Given the description of an element on the screen output the (x, y) to click on. 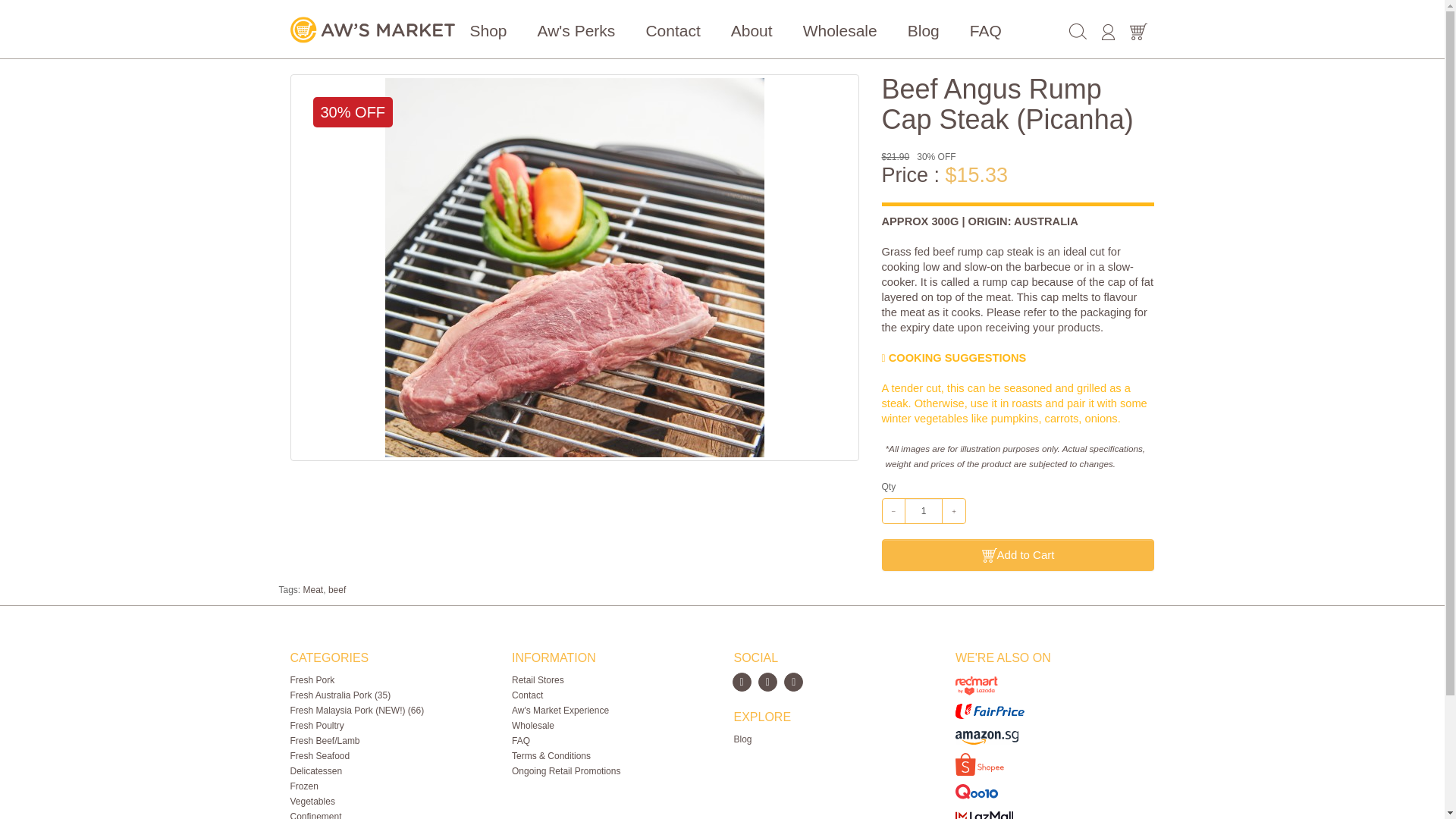
Shop (488, 30)
About (751, 30)
FAQ (985, 30)
Wholesale (839, 30)
Contact (672, 30)
Meat (312, 589)
Aw's Perks (576, 30)
Add to Cart (1017, 554)
1 (923, 510)
Blog (923, 30)
